Given the description of an element on the screen output the (x, y) to click on. 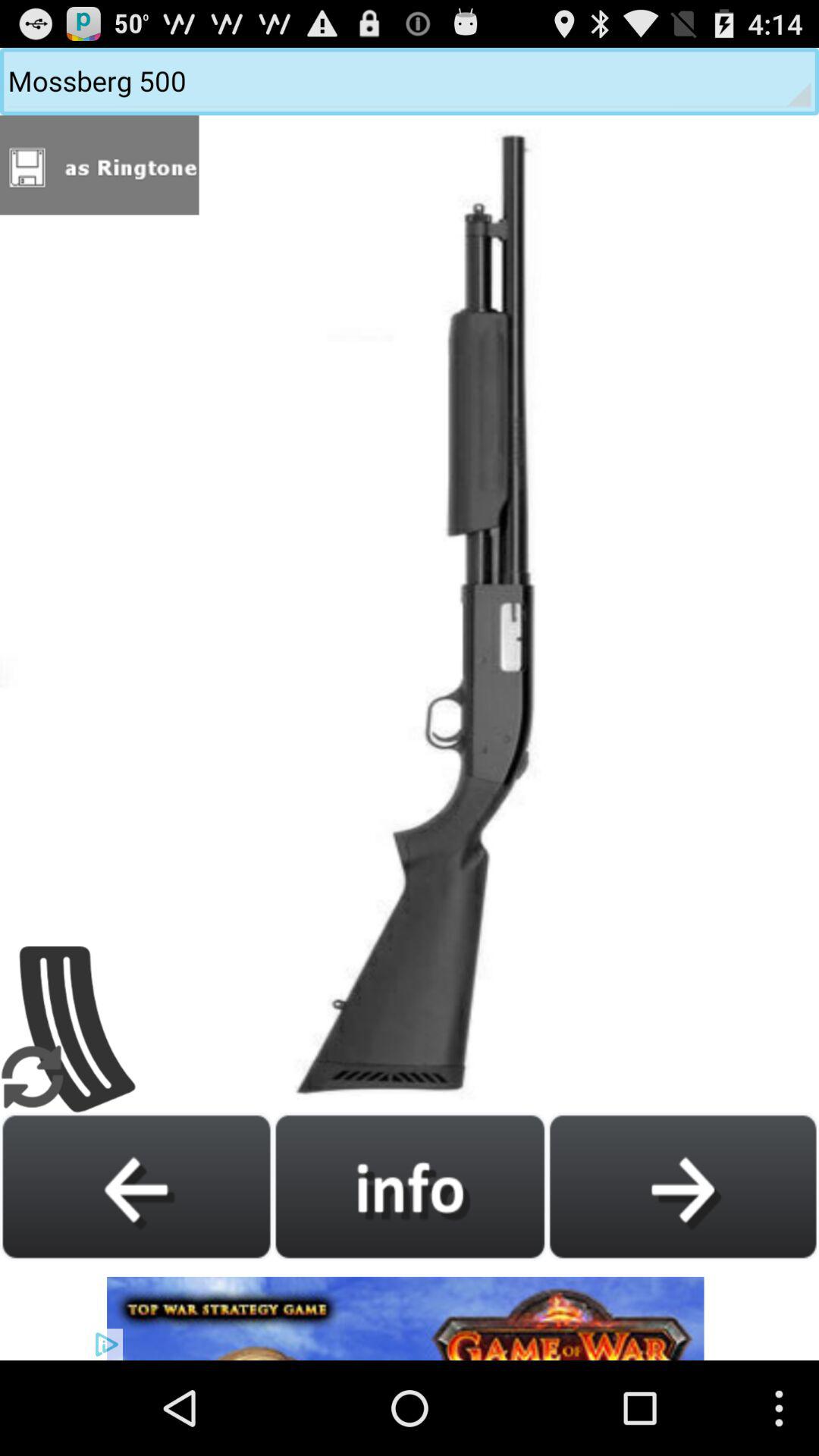
go to advertisement website (409, 1310)
